Given the description of an element on the screen output the (x, y) to click on. 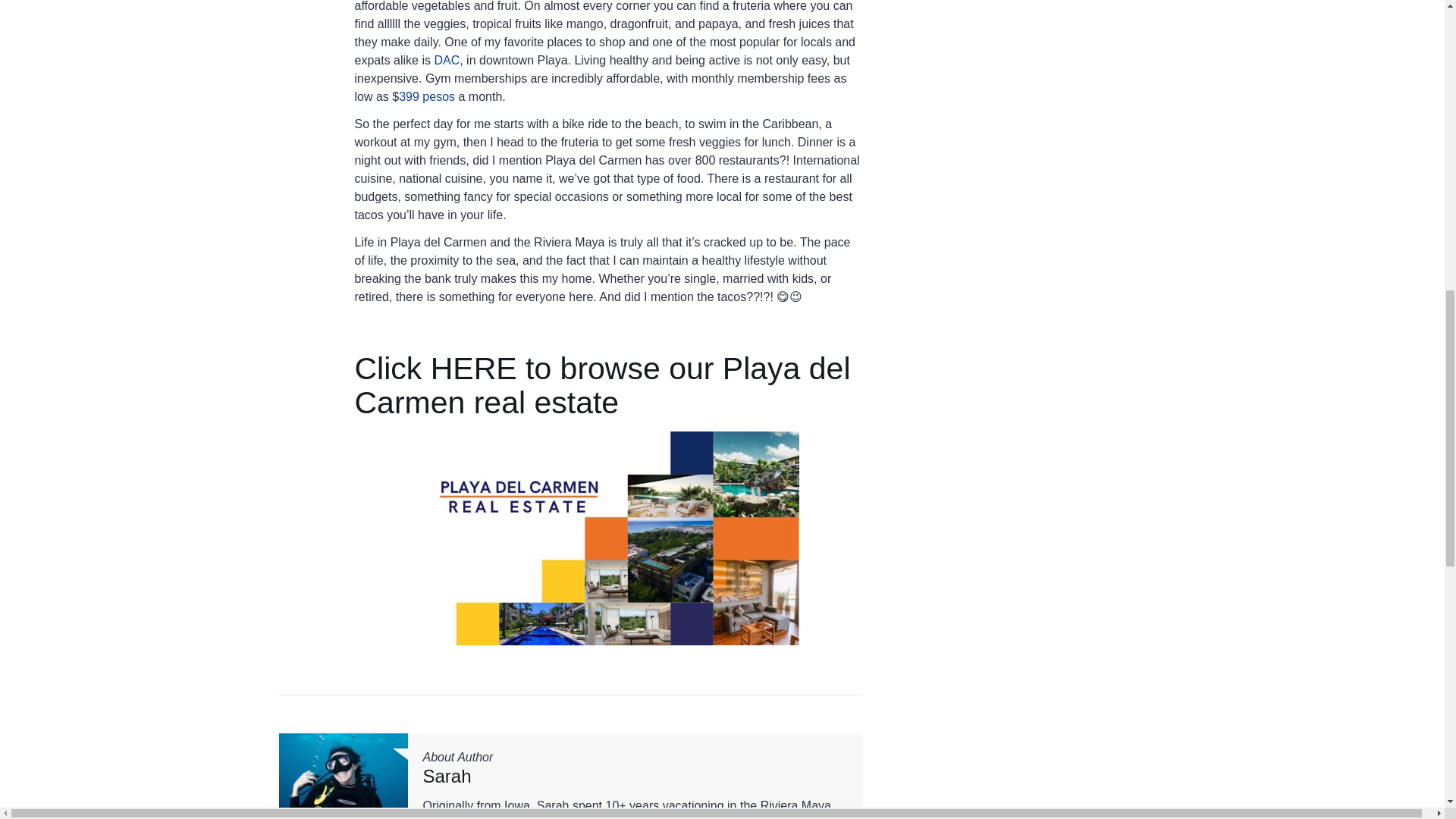
399 pesos (426, 96)
Post by Sarah (447, 775)
DAC (446, 60)
